Given the description of an element on the screen output the (x, y) to click on. 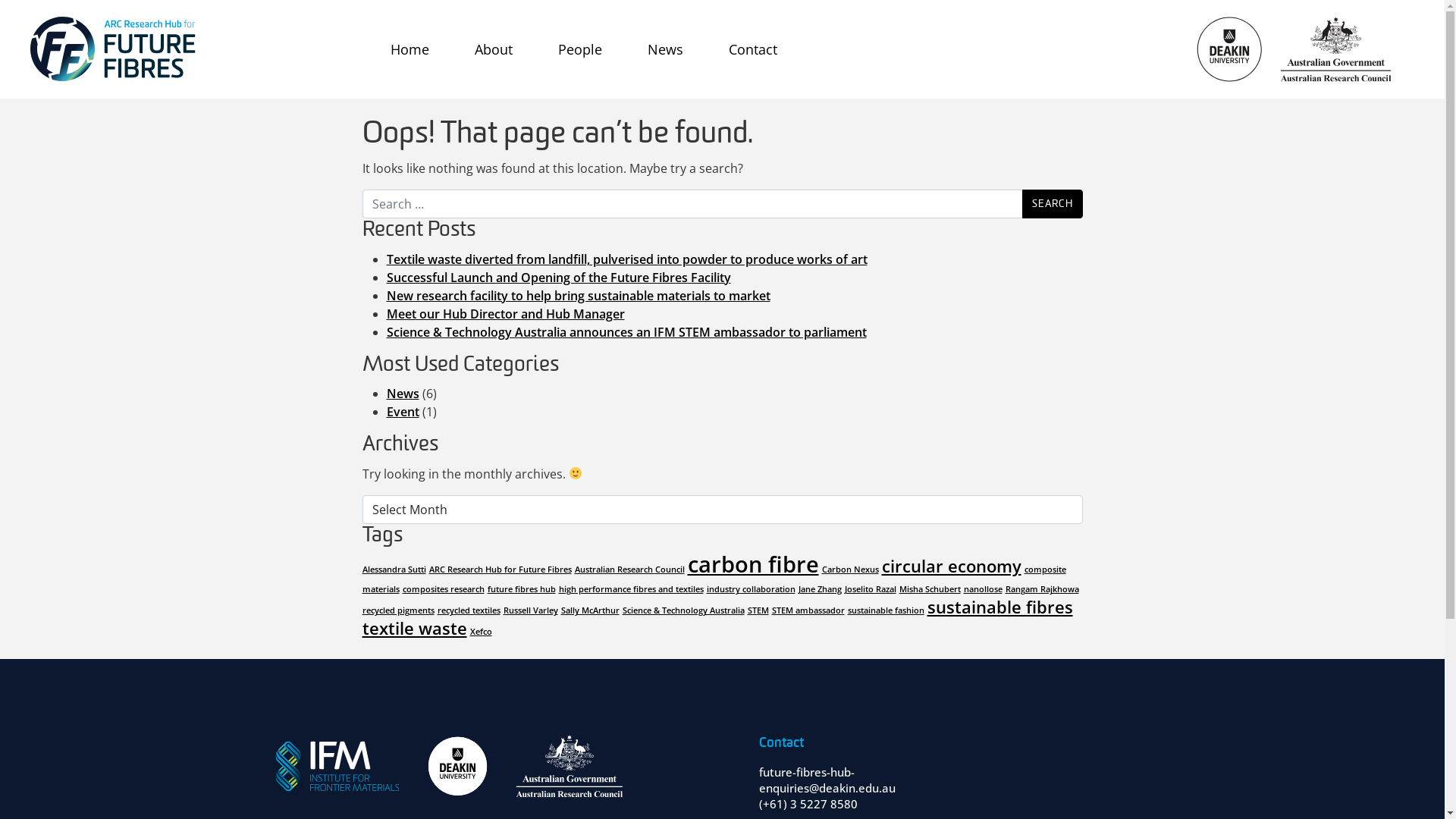
(+61) 3 5227 8580 Element type: text (807, 803)
Search Element type: text (1052, 203)
News Element type: text (665, 49)
Xefco Element type: text (481, 631)
Jane Zhang Element type: text (818, 588)
circular economy Element type: text (950, 566)
Home Element type: text (409, 49)
Russell Varley Element type: text (530, 610)
recycled textiles Element type: text (467, 610)
Joselito Razal Element type: text (870, 588)
Sally McArthur Element type: text (590, 610)
future-fibres-hub-enquiries@deakin.edu.au Element type: text (826, 779)
Event Element type: text (402, 411)
high performance fibres and textiles Element type: text (630, 588)
News Element type: text (402, 393)
nanollose Element type: text (982, 588)
Successful Launch and Opening of the Future Fibres Facility Element type: text (558, 277)
People Element type: text (579, 49)
About Element type: text (493, 49)
recycled pigments Element type: text (398, 610)
Science & Technology Australia Element type: text (682, 610)
ARC Research Hub for Future Fibres Element type: text (500, 569)
sustainable fibres Element type: text (999, 607)
Rangam Rajkhowa Element type: text (1042, 588)
textile waste Element type: text (414, 628)
Meet our Hub Director and Hub Manager Element type: text (505, 313)
Alessandra Sutti Element type: text (394, 569)
composite materials Element type: text (714, 579)
composites research Element type: text (442, 588)
carbon fibre Element type: text (752, 564)
STEM Element type: text (757, 610)
STEM ambassador Element type: text (807, 610)
Australian Research Council Element type: text (629, 569)
future fibres hub Element type: text (520, 588)
sustainable fashion Element type: text (885, 610)
Carbon Nexus Element type: text (850, 569)
Contact Element type: text (752, 49)
industry collaboration Element type: text (750, 588)
Misha Schubert Element type: text (929, 588)
